Given the description of an element on the screen output the (x, y) to click on. 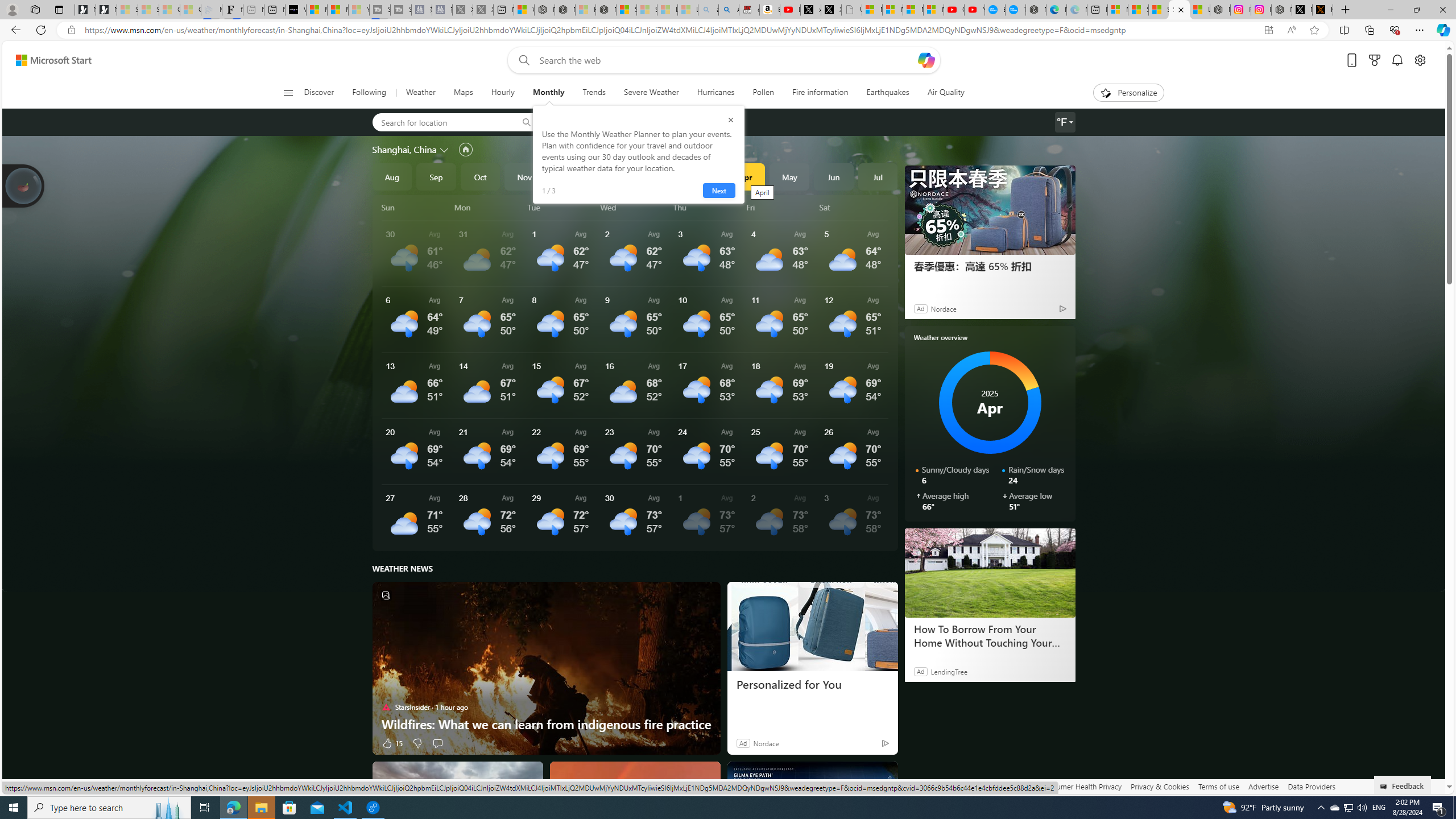
Your Privacy Choices (987, 785)
Sep (435, 176)
Weather settings (1064, 122)
Wildlife - MSN (523, 9)
Class: feedback_link_icon-DS-EntryPoint1-1 (1384, 786)
Terms of use (1218, 785)
Jun (833, 176)
